Given the description of an element on the screen output the (x, y) to click on. 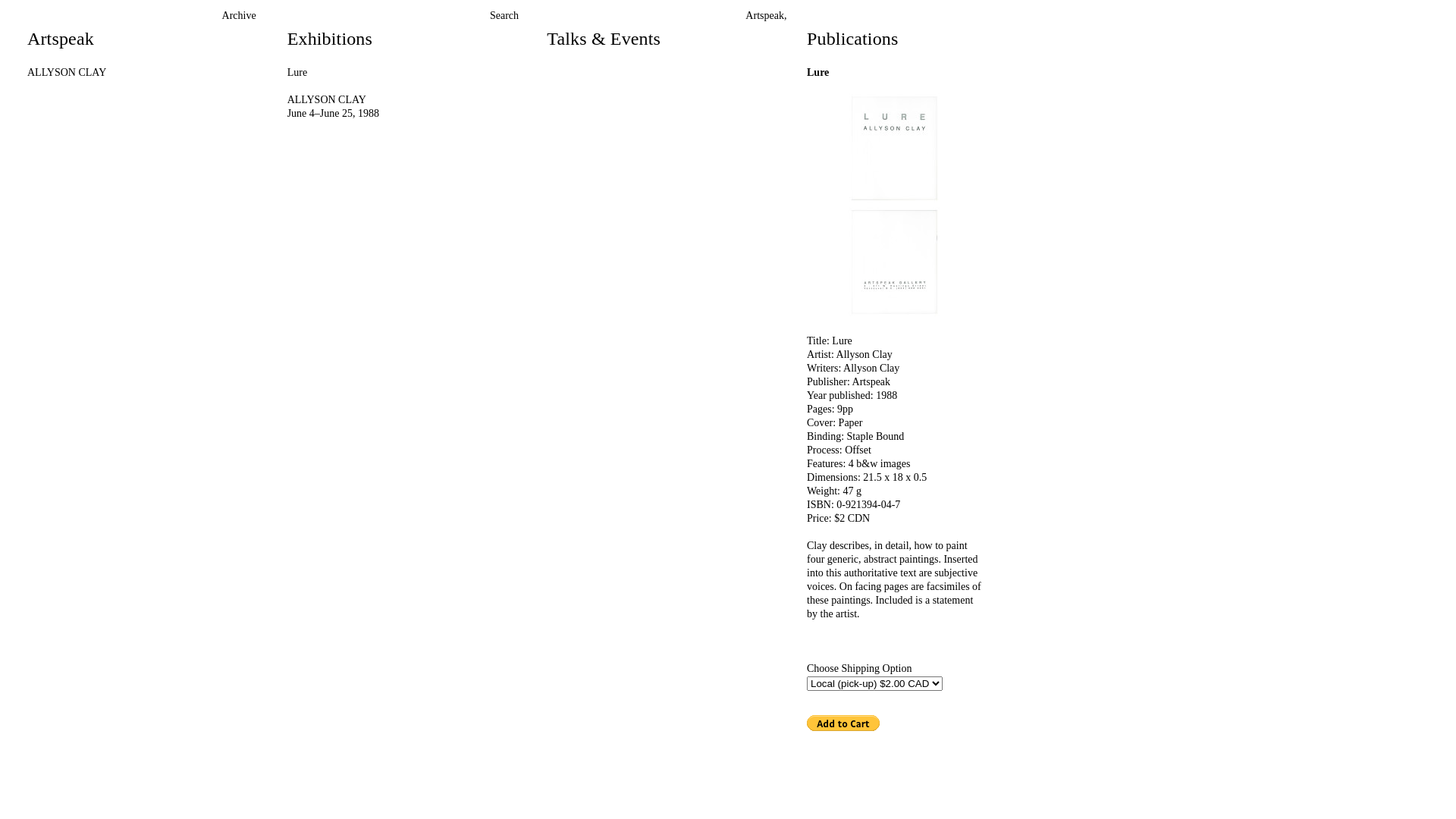
ALLYSON CLAY Element type: text (66, 72)
Search Element type: text (503, 15)
Lure Element type: text (297, 72)
Artspeak, Element type: text (765, 15)
Archive Element type: text (239, 15)
Artspeak Element type: text (60, 38)
Exhibitions Element type: text (329, 38)
Publications Element type: text (851, 38)
Talks & Events Element type: text (603, 38)
